Given the description of an element on the screen output the (x, y) to click on. 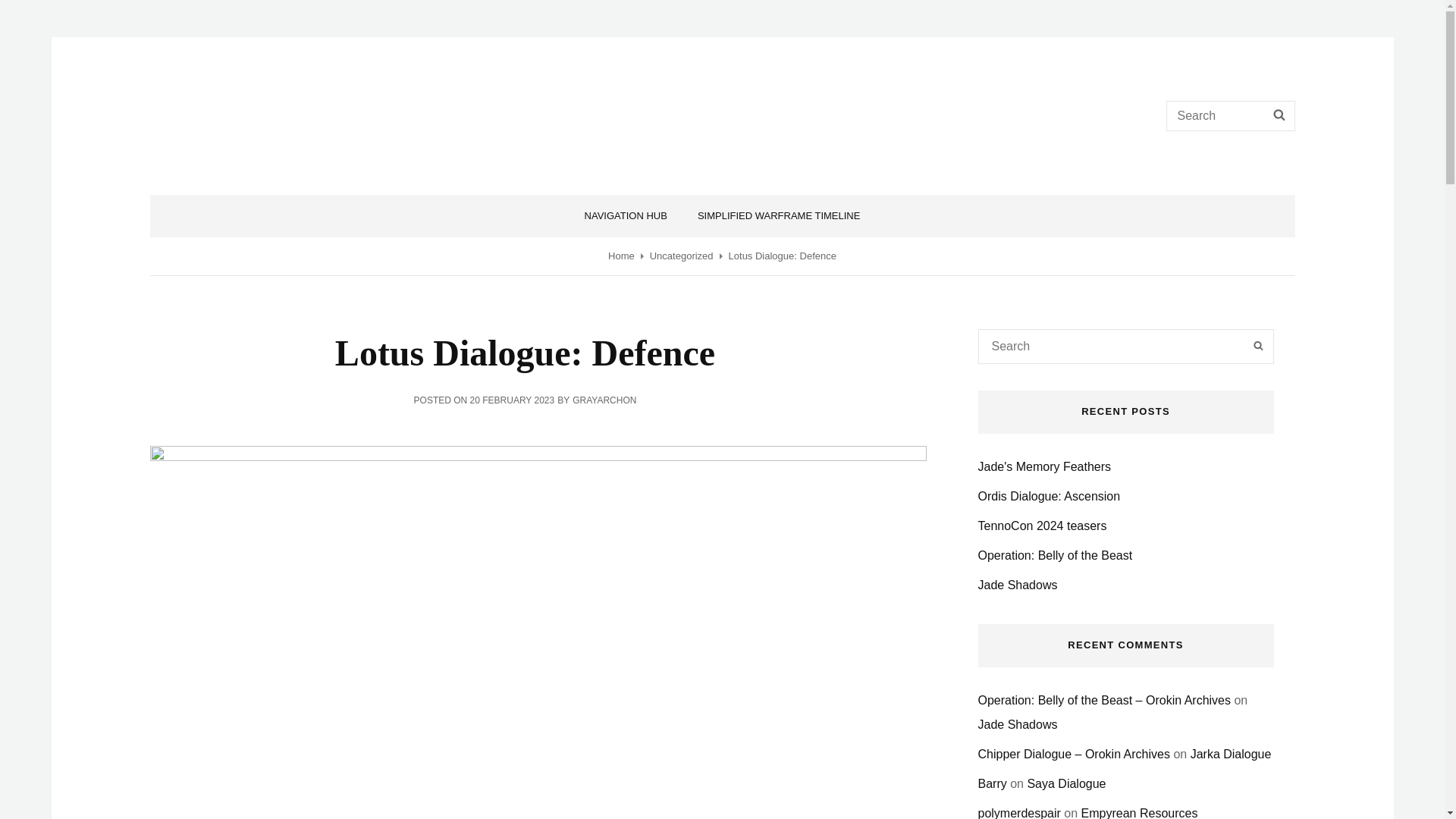
NAVIGATION HUB (625, 215)
20 FEBRUARY 2023 (512, 399)
Uncategorized (681, 255)
Orokin Archives (263, 105)
GRAYARCHON (604, 399)
SIMPLIFIED WARFRAME TIMELINE (779, 215)
Home (621, 255)
SEARCH (1278, 115)
